Given the description of an element on the screen output the (x, y) to click on. 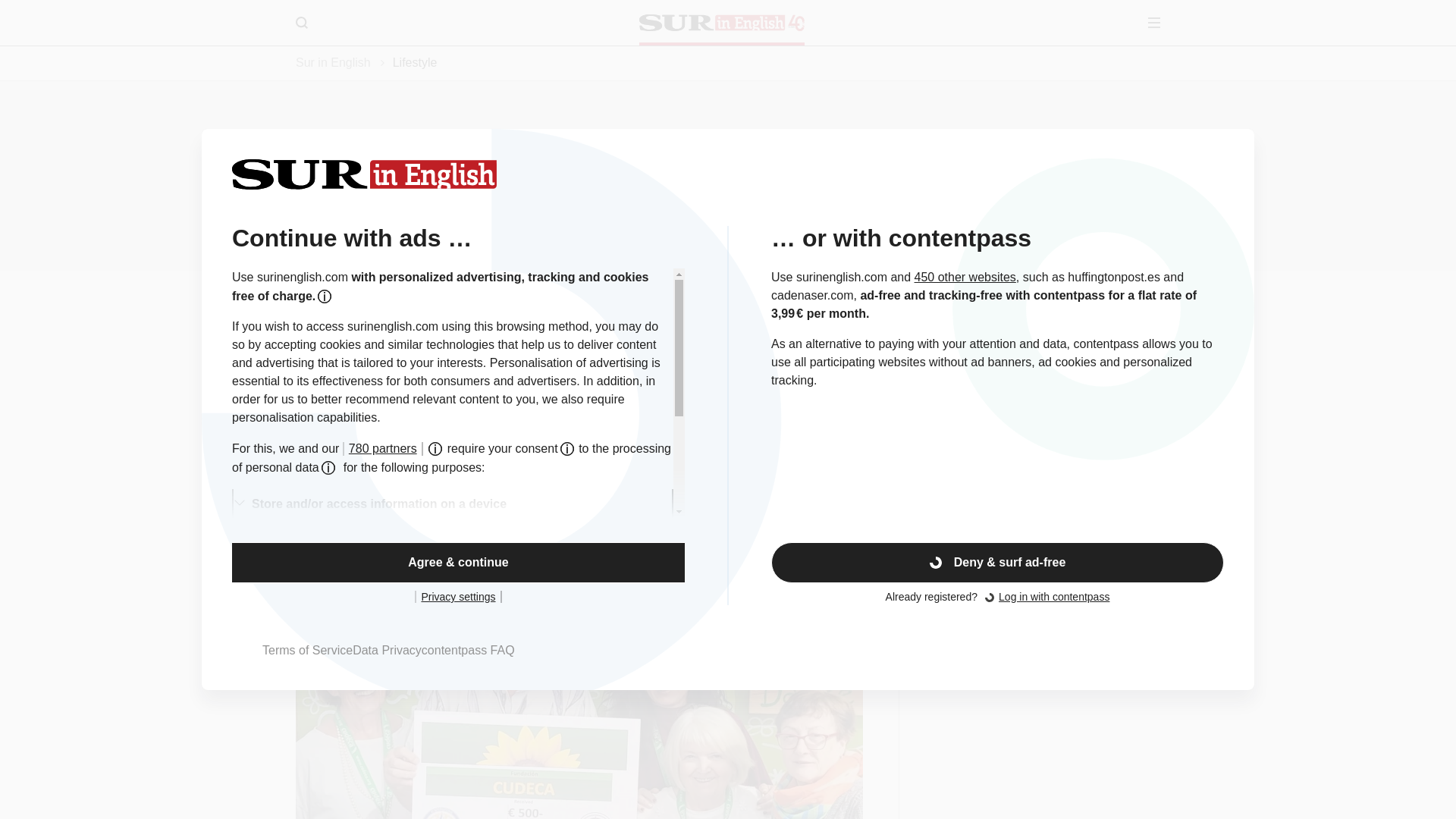
450 other websites (965, 277)
Privacy settings (457, 596)
contentpass FAQ (468, 649)
Data Privacy (387, 649)
Terms of Service (307, 649)
Log in with contentpass (1053, 596)
surinenglish (722, 22)
